Given the description of an element on the screen output the (x, y) to click on. 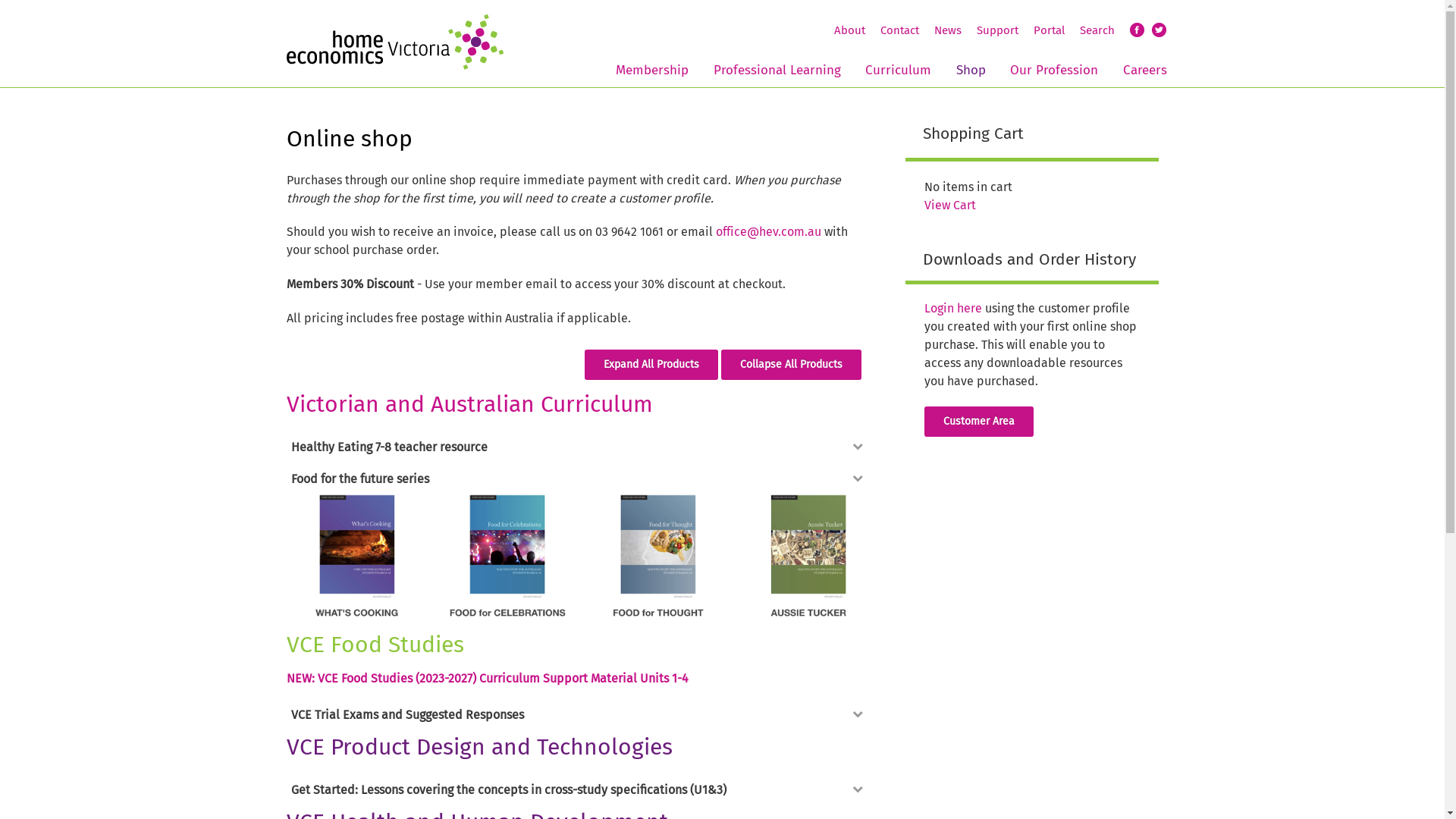
Membership Element type: text (652, 68)
Contact Element type: text (898, 29)
Shop Element type: text (970, 68)
Our Profession Element type: text (1053, 68)
View Cart Element type: text (949, 204)
Careers Element type: text (1143, 68)
Curriculum Element type: text (897, 68)
Customer Area Element type: text (977, 421)
Login here Element type: text (952, 308)
Add to cart Element type: text (588, 796)
Add to cart Element type: text (588, 547)
About Element type: text (849, 29)
News Element type: text (947, 29)
office@hev.com.au Element type: text (768, 231)
Search Element type: text (1097, 29)
Add to cart Element type: text (578, 694)
Professional Learning Element type: text (776, 68)
Add to cart Element type: text (588, 694)
Support Element type: text (997, 29)
Portal Element type: text (1048, 29)
